Given the description of an element on the screen output the (x, y) to click on. 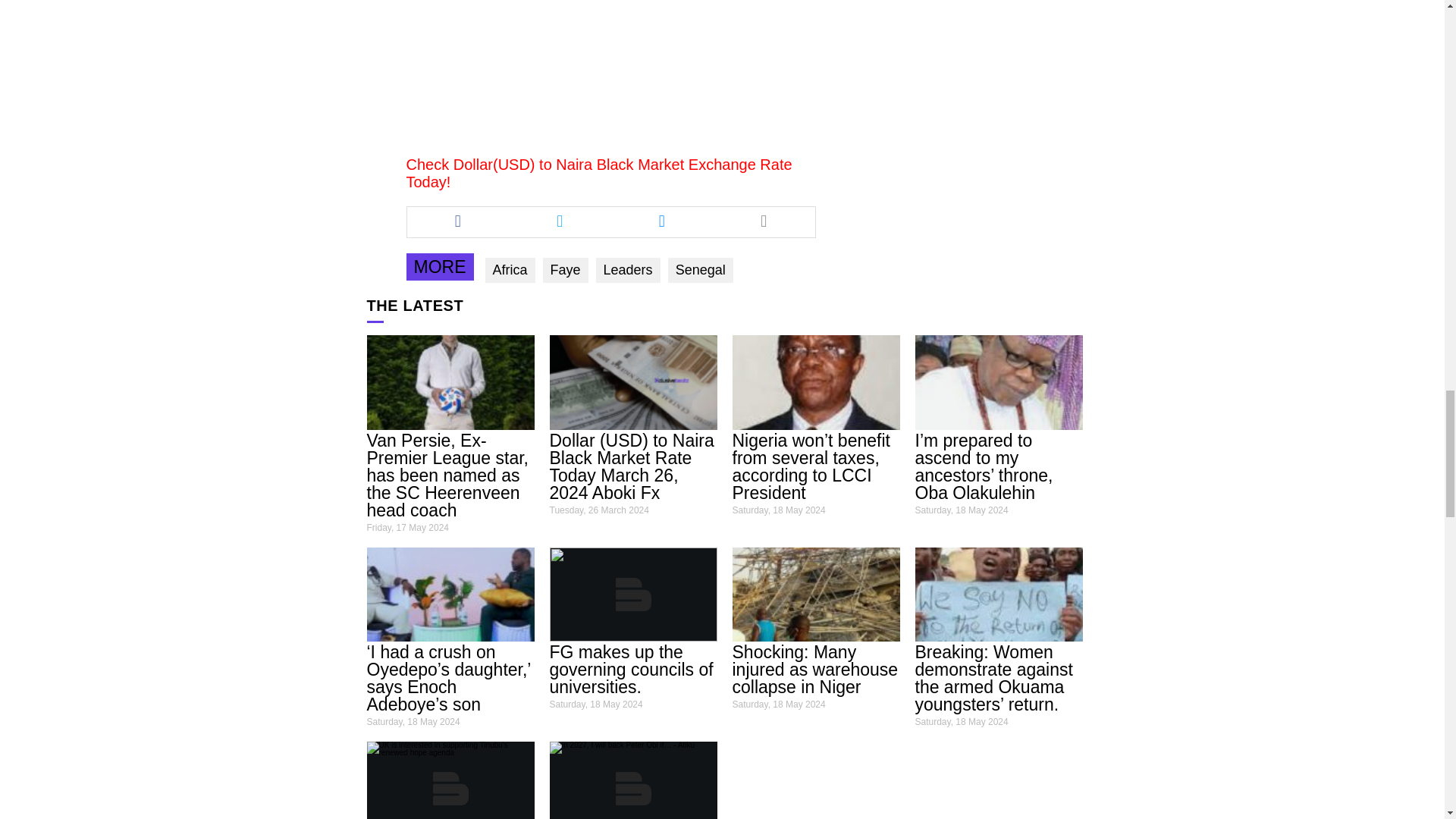
Shocking: Many injured as warehouse collapse in Niger (815, 669)
FG makes up the governing councils of universities. (630, 669)
